Given the description of an element on the screen output the (x, y) to click on. 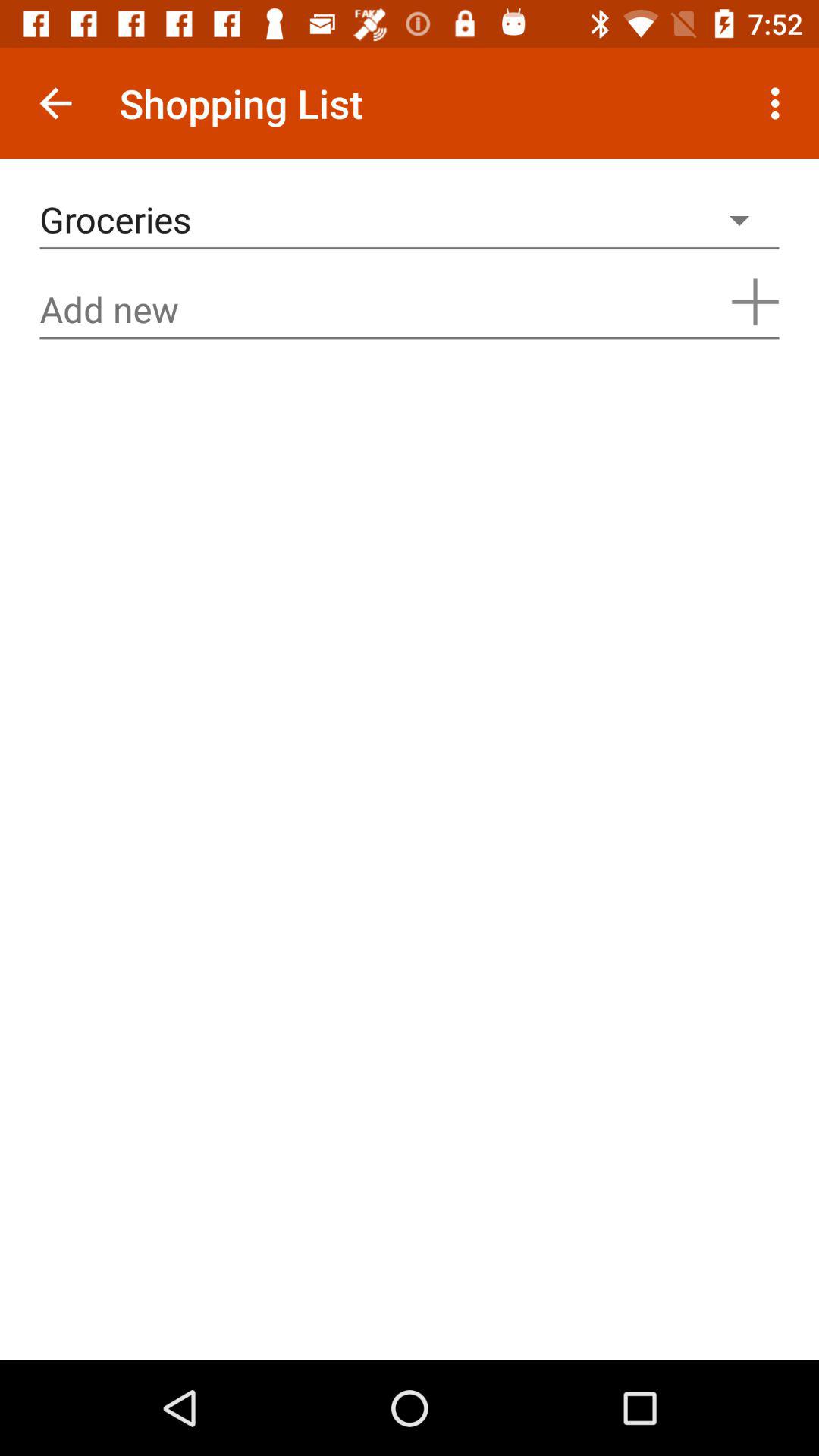
select to add option (755, 301)
